Given the description of an element on the screen output the (x, y) to click on. 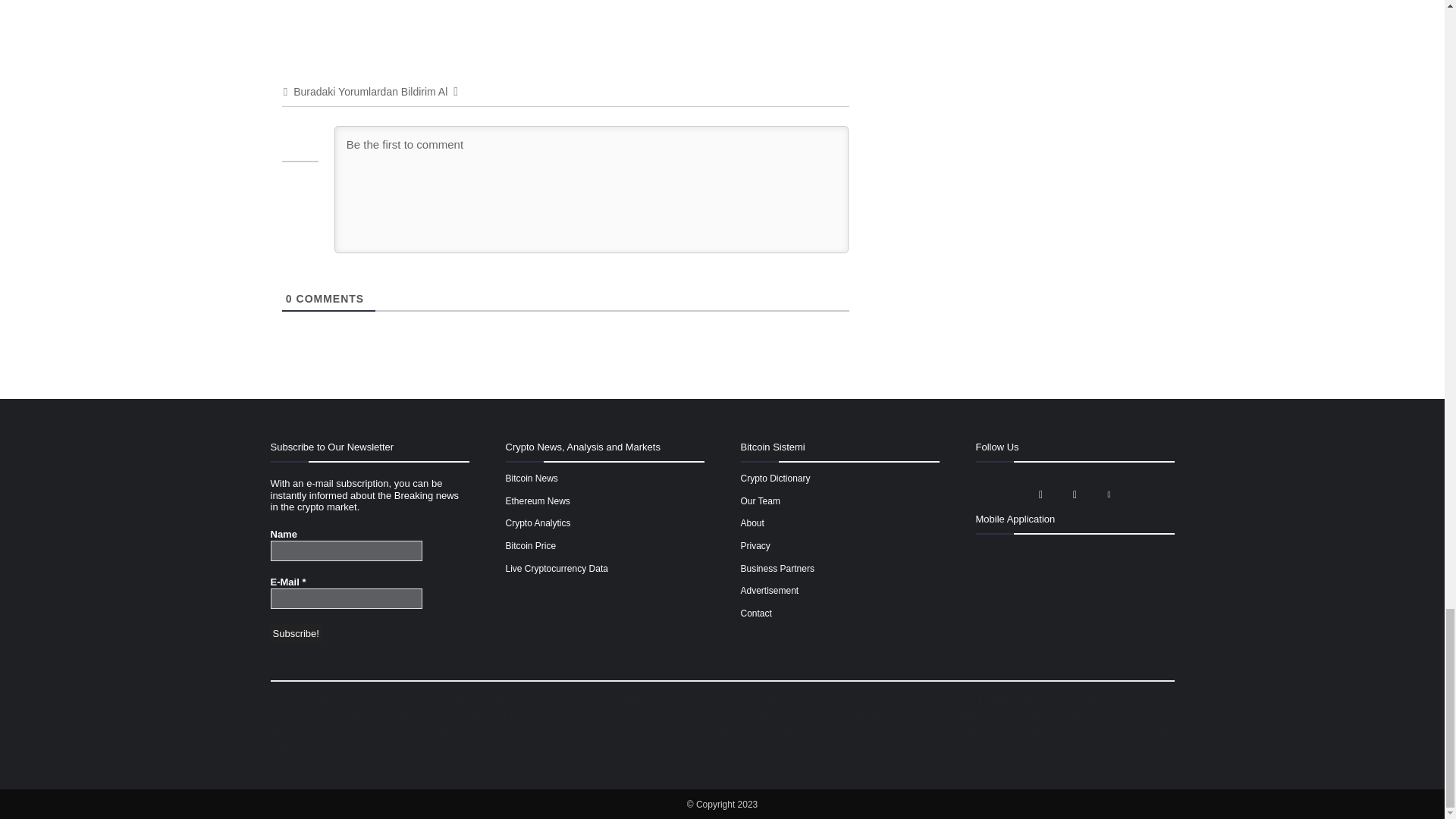
Subscribe! (294, 633)
